Given the description of an element on the screen output the (x, y) to click on. 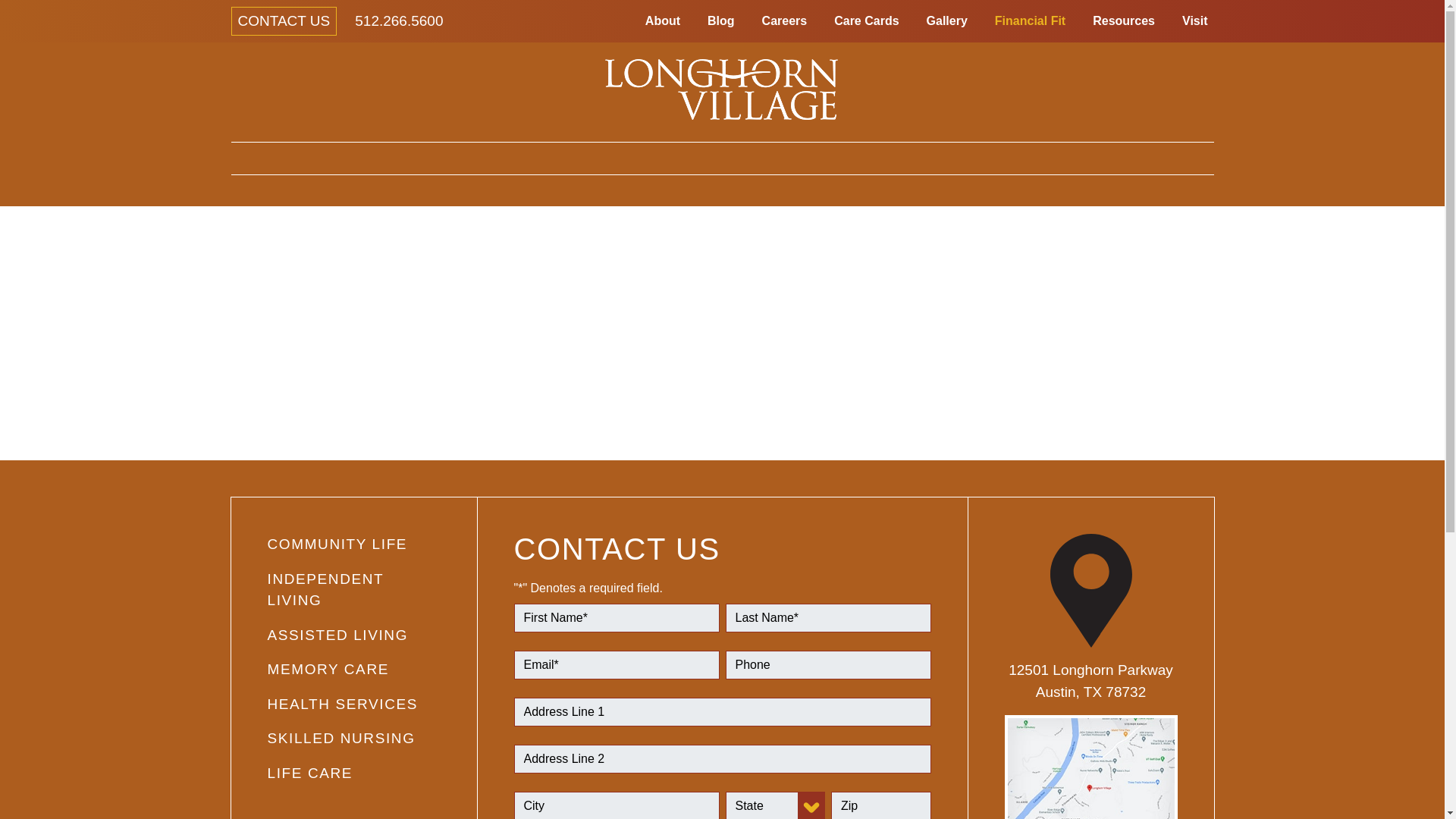
Gallery (947, 20)
Visit (1195, 20)
512.266.5600 (398, 20)
Care Cards (866, 20)
Blog (721, 20)
About (662, 20)
CONTACT US (283, 21)
Resources (1123, 20)
Financial Fit (1029, 20)
Careers (784, 20)
